Given the description of an element on the screen output the (x, y) to click on. 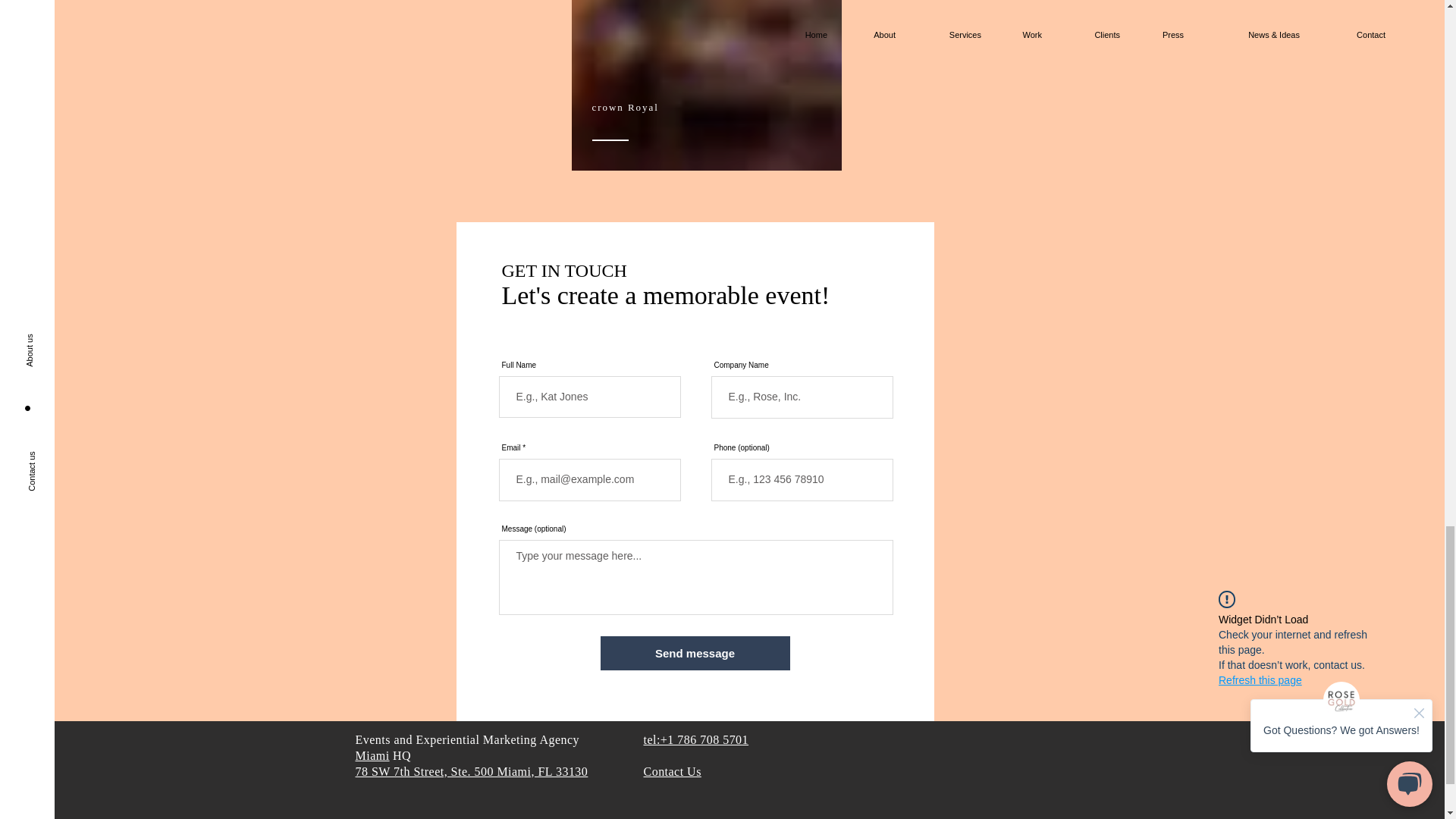
78 SW 7th Street, Ste. 500 Miami, FL 33130 (471, 771)
Miami (371, 755)
Send message (694, 653)
Contact Us (671, 771)
